Given the description of an element on the screen output the (x, y) to click on. 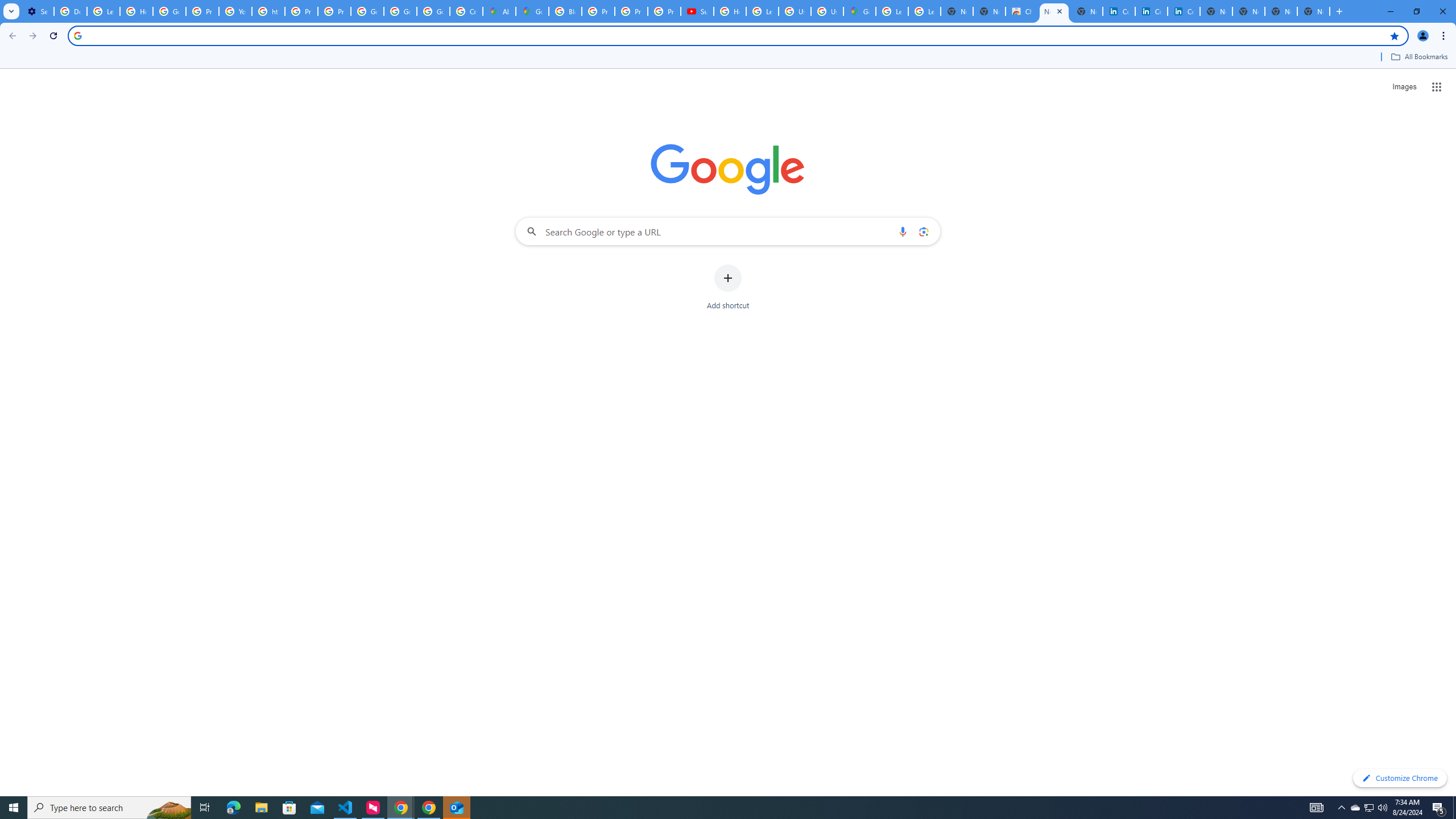
Search icon (77, 35)
Learn how to find your photos - Google Photos Help (103, 11)
Privacy Help Center - Policies Help (301, 11)
Create your Google Account (465, 11)
Google Maps (859, 11)
